Given the description of an element on the screen output the (x, y) to click on. 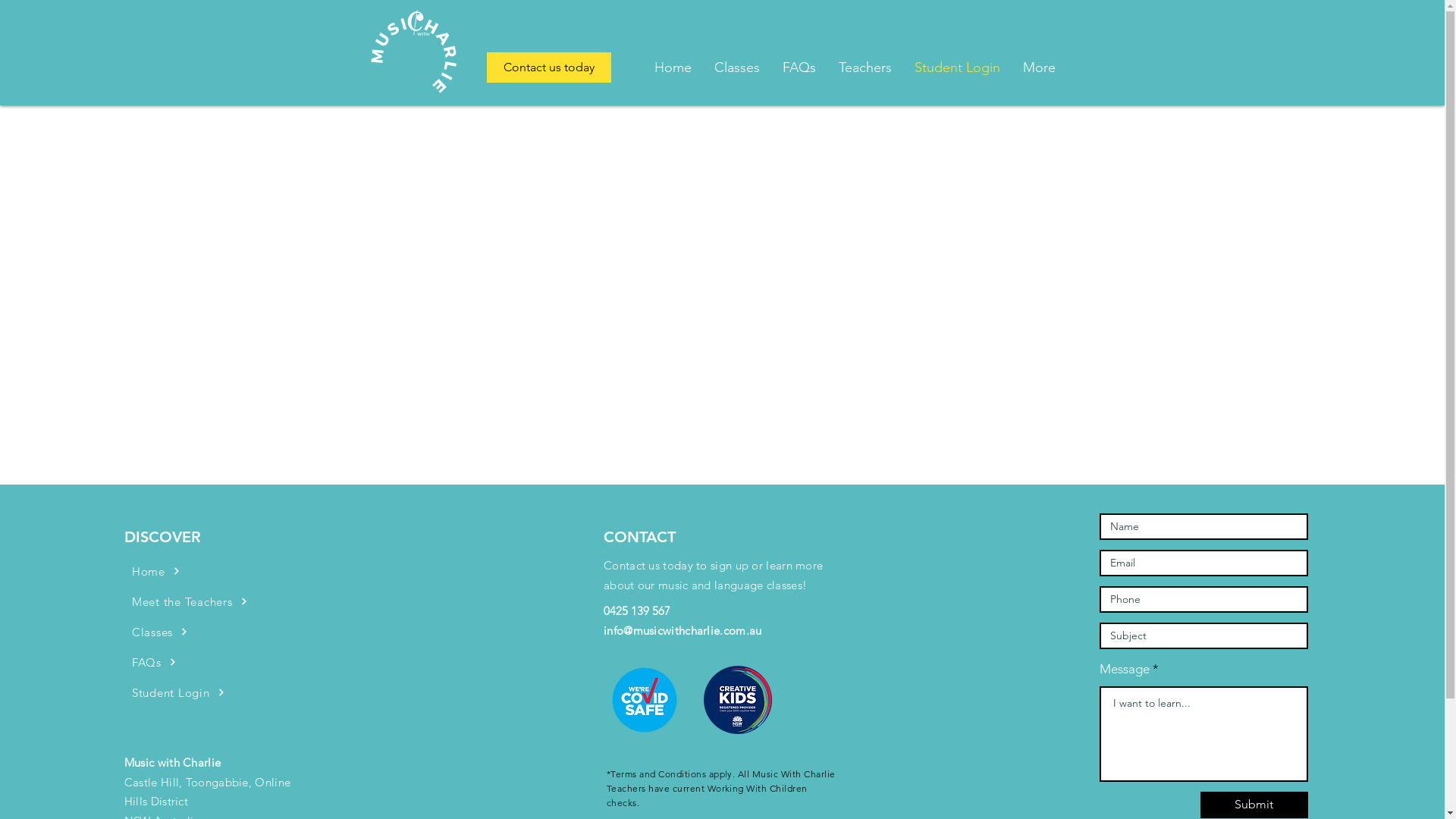
Home Element type: text (672, 67)
Teachers Element type: text (864, 67)
Home Element type: text (239, 570)
0425 139 567 Element type: text (636, 610)
FAQs Element type: text (798, 67)
Student Login Element type: text (956, 67)
Classes Element type: text (239, 631)
FAQs Element type: text (239, 661)
Contact us today Element type: text (548, 67)
Classes Element type: text (736, 67)
Meet the Teachers Element type: text (239, 601)
info@musicwithcharlie.com.au Element type: text (682, 630)
Submit Element type: text (1254, 804)
Student Login Element type: text (239, 692)
